Given the description of an element on the screen output the (x, y) to click on. 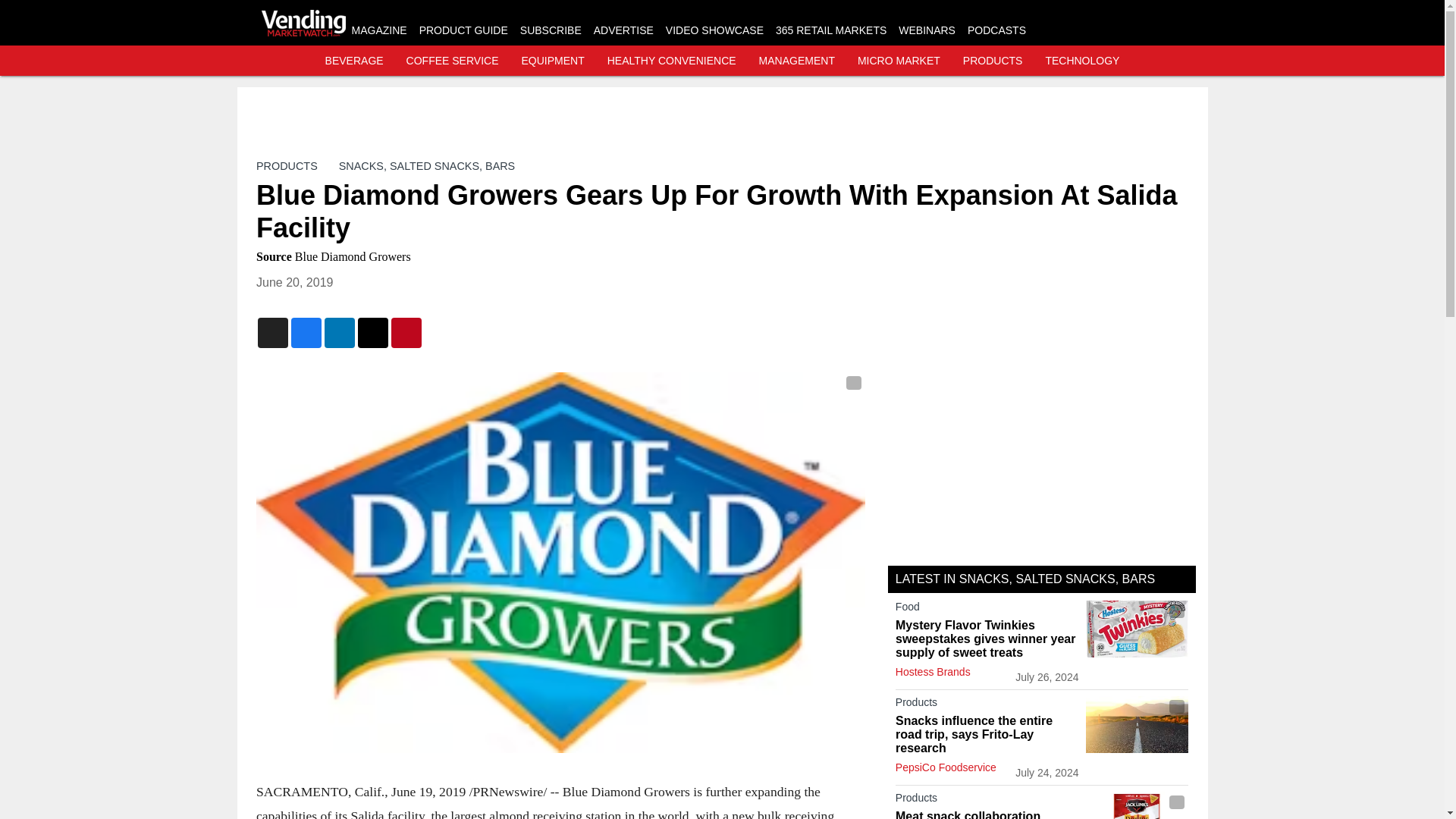
EQUIPMENT (553, 60)
BEVERAGE (354, 60)
LATEST IN SNACKS, SALTED SNACKS, BARS (1024, 578)
SNACKS, SALTED SNACKS, BARS (425, 165)
HEALTHY CONVENIENCE (671, 60)
PRODUCTS (286, 165)
MAGAZINE (379, 30)
PODCASTS (997, 30)
MANAGEMENT (796, 60)
SUBSCRIBE (549, 30)
365 RETAIL MARKETS (831, 30)
Products (986, 705)
